Given the description of an element on the screen output the (x, y) to click on. 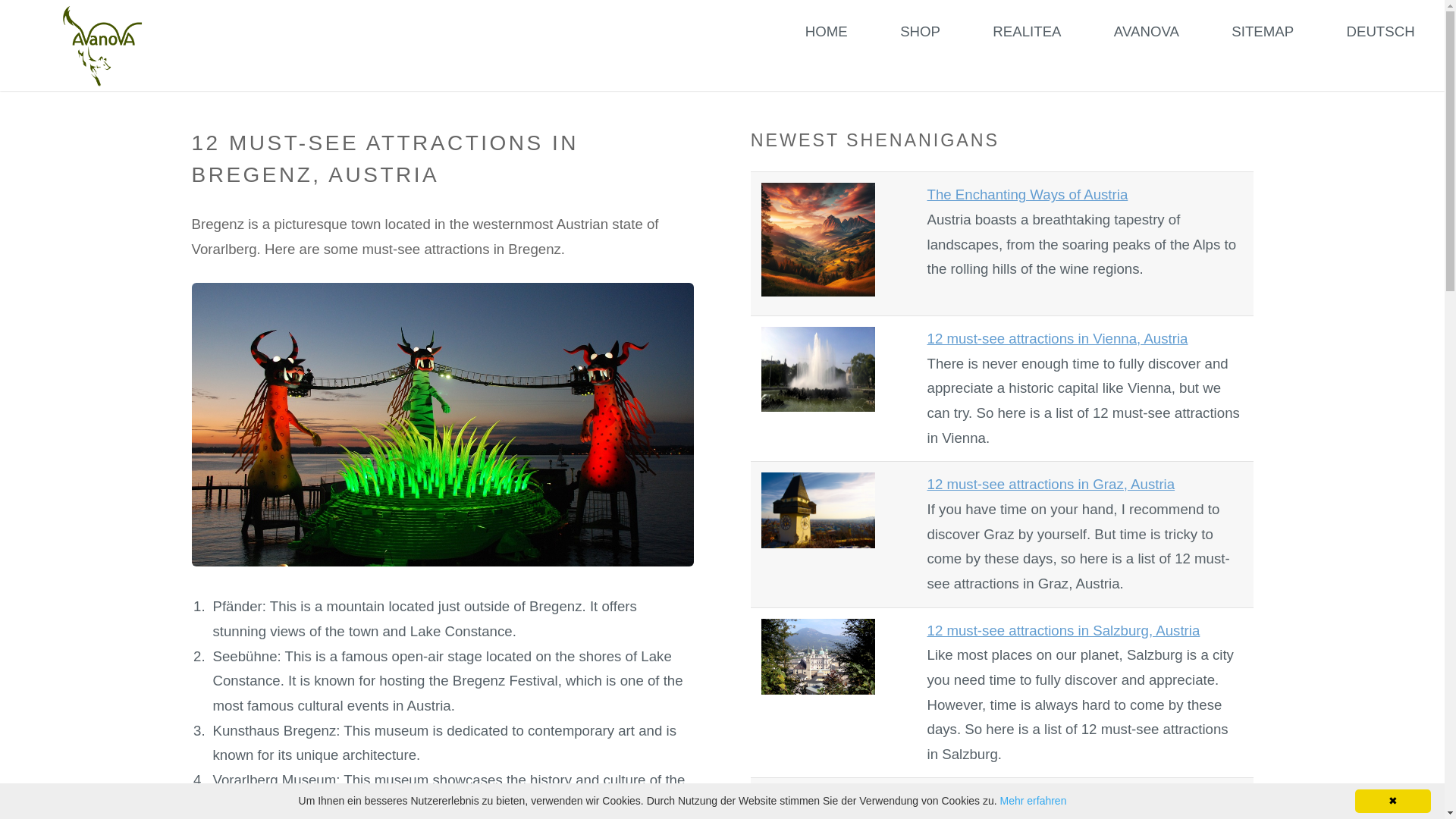
The Enchanting Ways of Austria (1026, 194)
SHOP (920, 31)
12 must-see attractions in Vienna, Austria (1057, 338)
The Enchanting Ways of Austria (1026, 194)
12 must-see attractions in Graz, Austria (1050, 483)
REALITEA (1026, 31)
12 must-see attractions in Vienna, Austria (1057, 338)
12 must-see attractions in Salzburg, Austria (1062, 630)
12 must-see attractions in Graz, Austria (1050, 483)
Some museums to visit in Salzburg (1036, 800)
Some museums to visit in Salzburg (1036, 800)
12 must-see attractions in Salzburg, Austria (1062, 630)
Avanova Salzburg (102, 45)
HOME (826, 31)
